Given the description of an element on the screen output the (x, y) to click on. 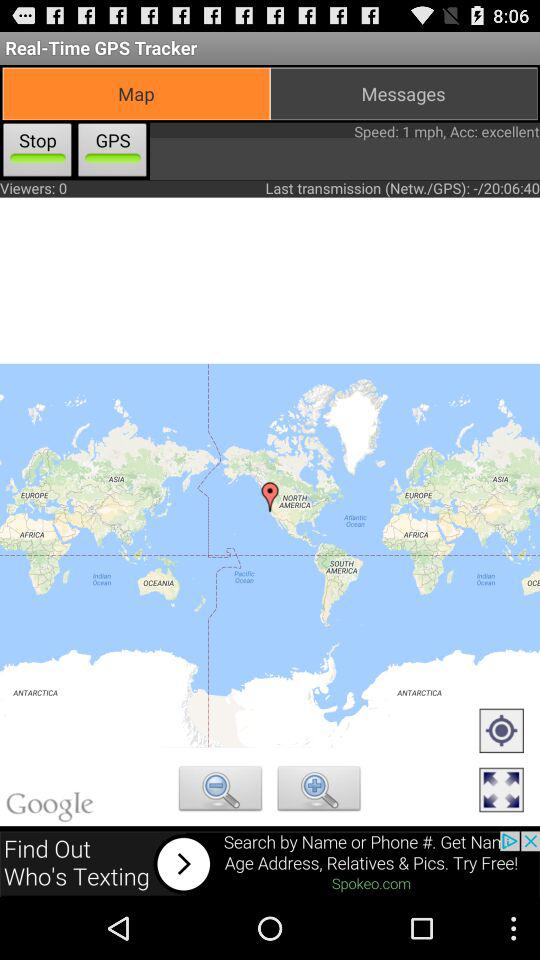
advertisement (270, 864)
